Given the description of an element on the screen output the (x, y) to click on. 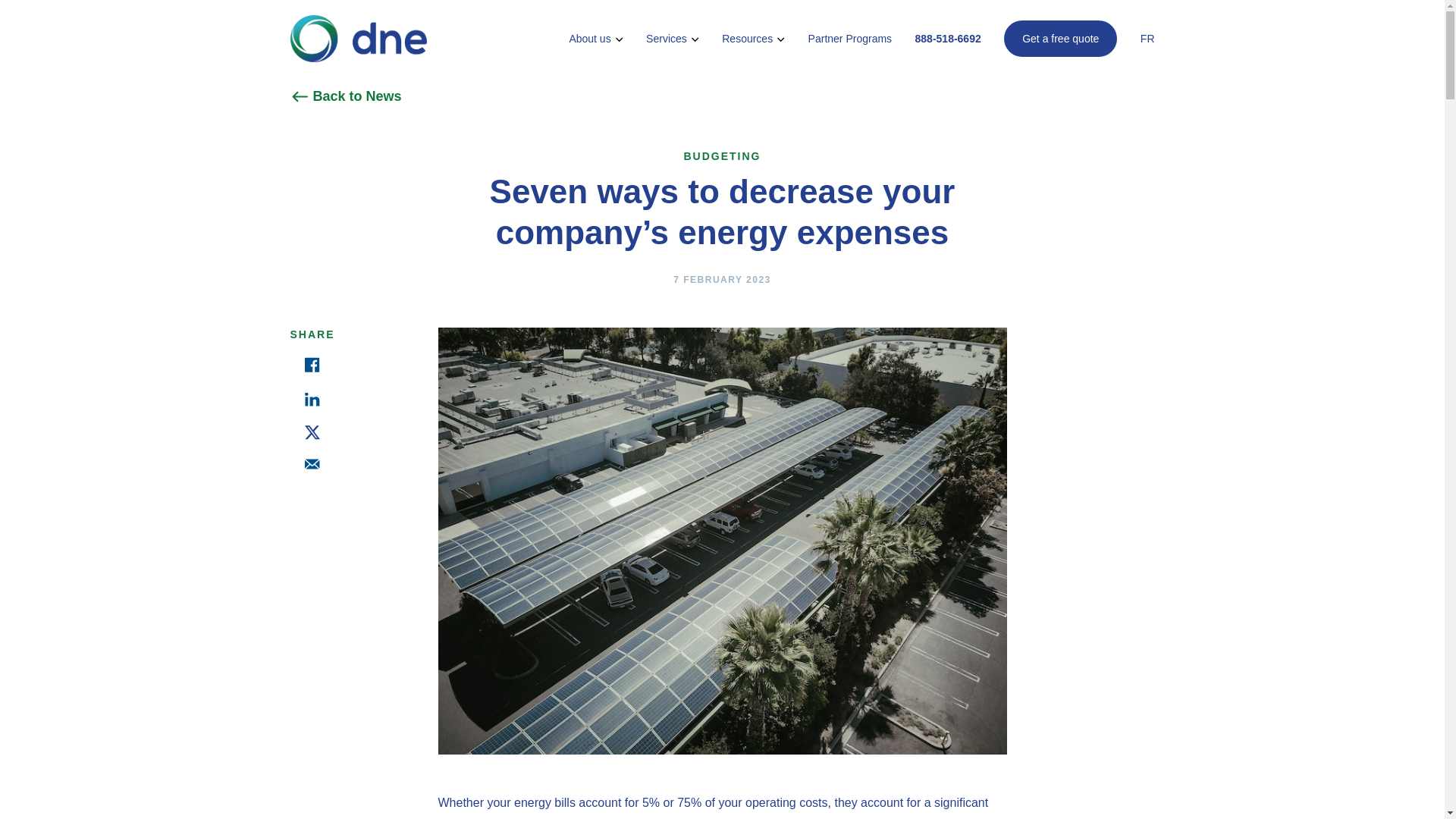
Management of energy resources (753, 38)
Resources (753, 38)
Energy management assessment (1060, 38)
About us (596, 38)
Share by Email (311, 463)
Services (672, 38)
888-518-6692 (948, 38)
Back to News (345, 96)
Energy management consultant (596, 38)
Get a free quote (1060, 38)
Partner Programs (849, 38)
BUDGETING (722, 160)
